Given the description of an element on the screen output the (x, y) to click on. 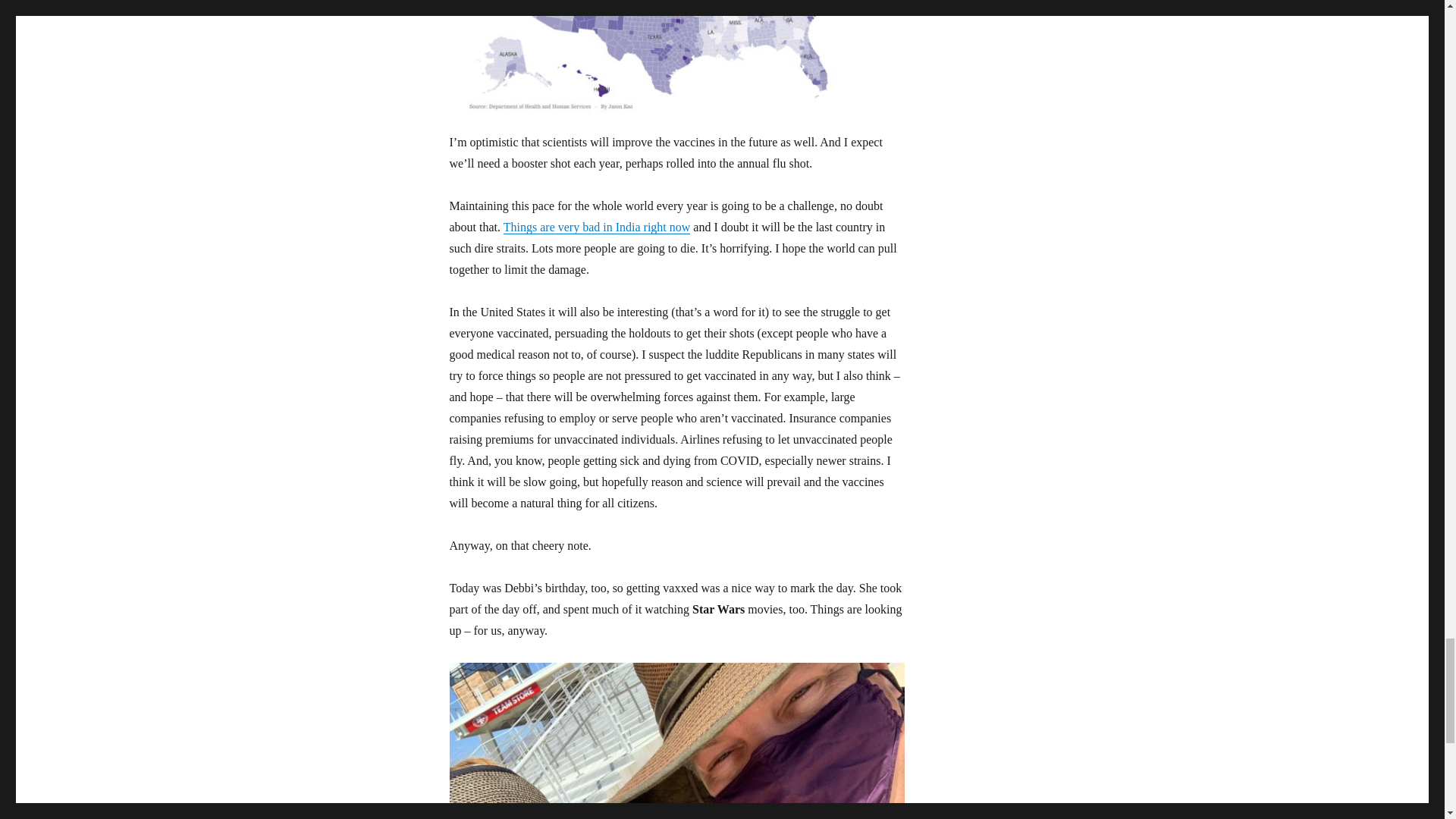
Things are very bad in India right now (596, 226)
